Given the description of an element on the screen output the (x, y) to click on. 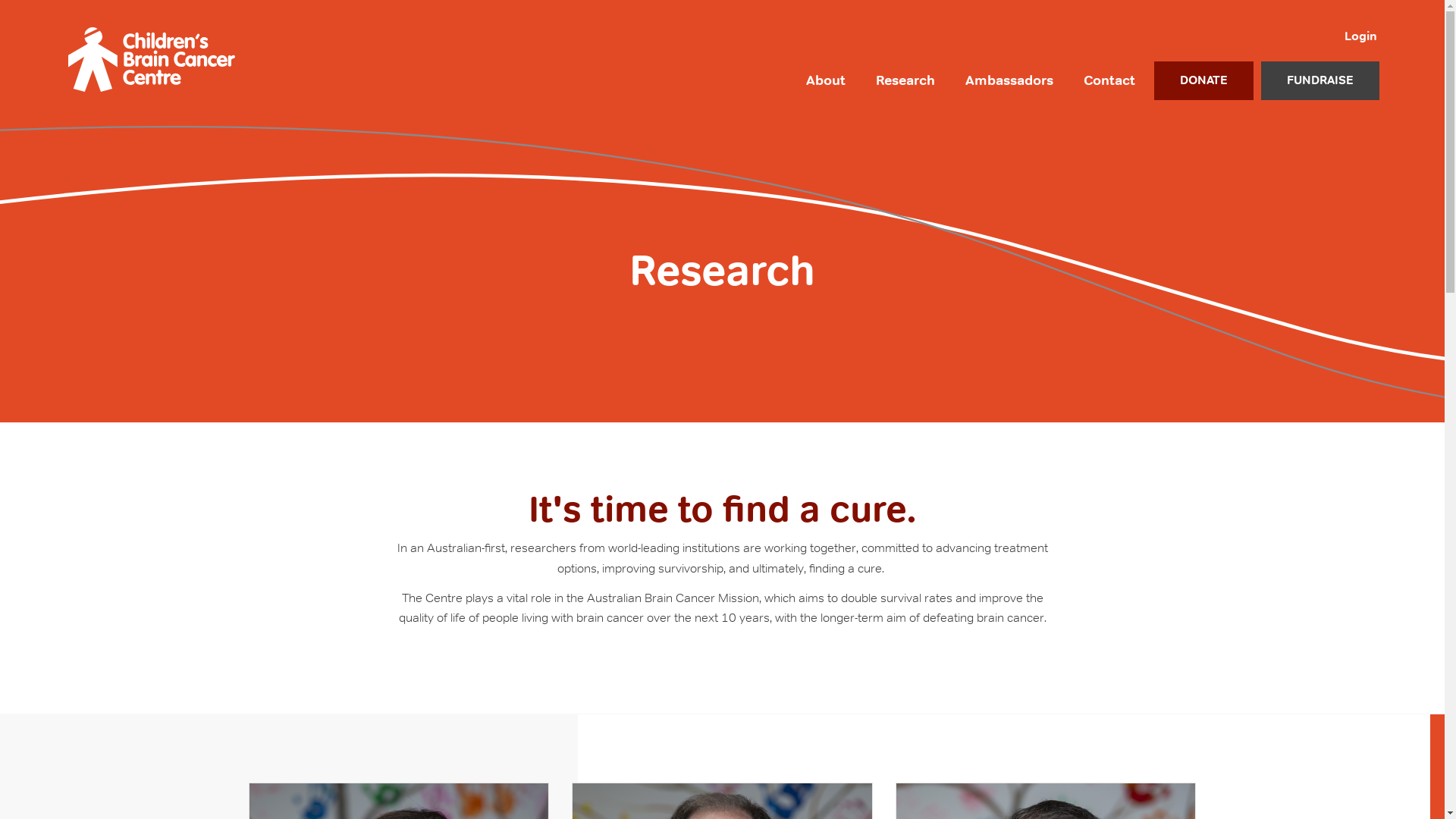
Ambassadors Element type: text (1008, 80)
Research Element type: text (904, 80)
DONATE Element type: text (1203, 80)
Contact Element type: text (1108, 80)
FUNDRAISE Element type: text (1319, 80)
About Element type: text (824, 80)
Login Element type: text (1352, 36)
